Given the description of an element on the screen output the (x, y) to click on. 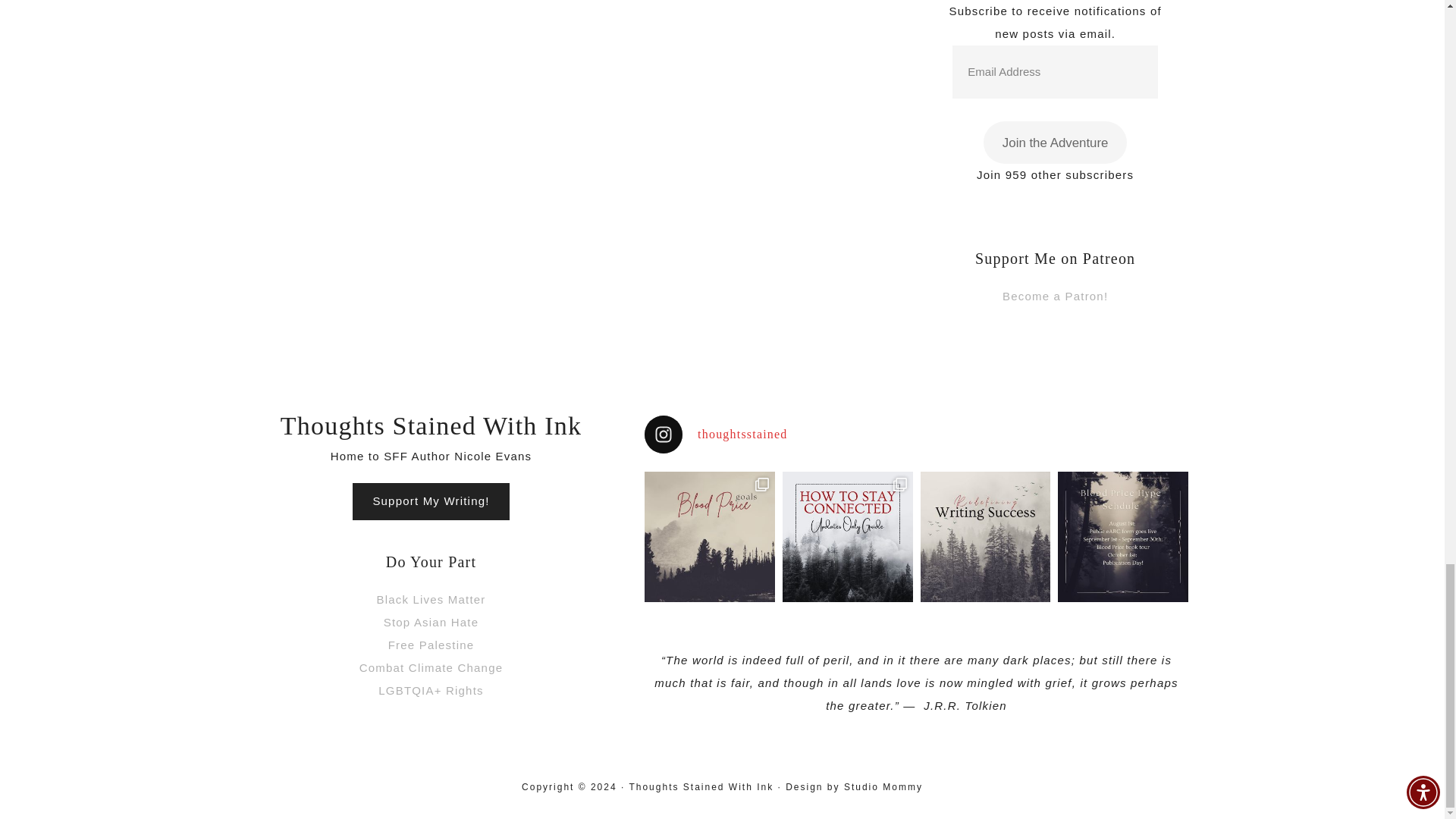
thoughtsstained (916, 434)
Join the Adventure (1055, 142)
Become a Patron! (1055, 295)
Combat Climate Change (430, 667)
Stop Asian Hate (431, 621)
Black Lives Matter (429, 599)
Support My Writing! (430, 501)
Free Palestine (431, 644)
